Given the description of an element on the screen output the (x, y) to click on. 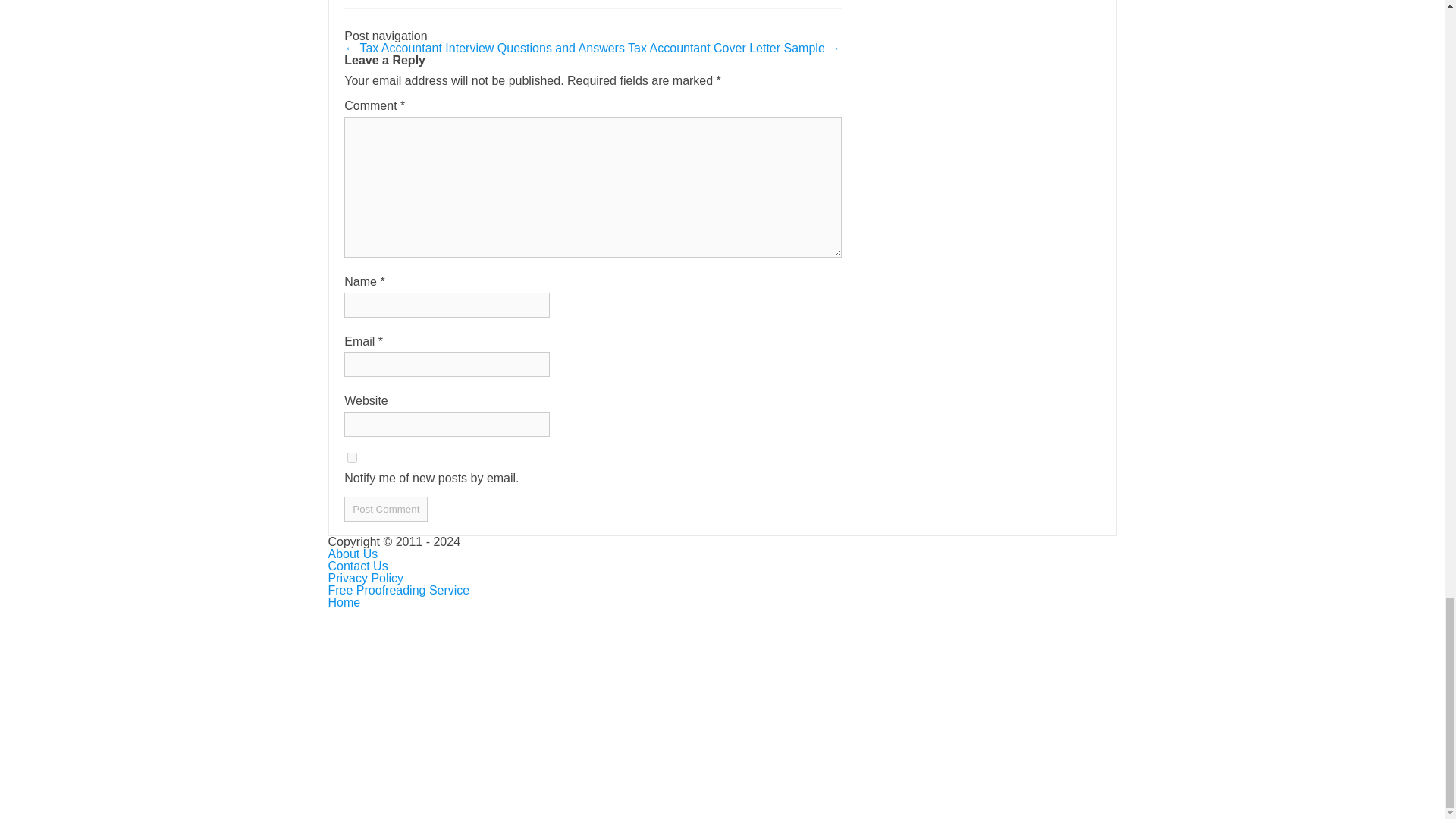
Home (343, 602)
Contact Us (357, 565)
Free Proofreading Service (397, 590)
Post Comment (385, 508)
About Us (352, 553)
Privacy Policy (365, 577)
Post Comment (385, 508)
subscribe (351, 457)
